Given the description of an element on the screen output the (x, y) to click on. 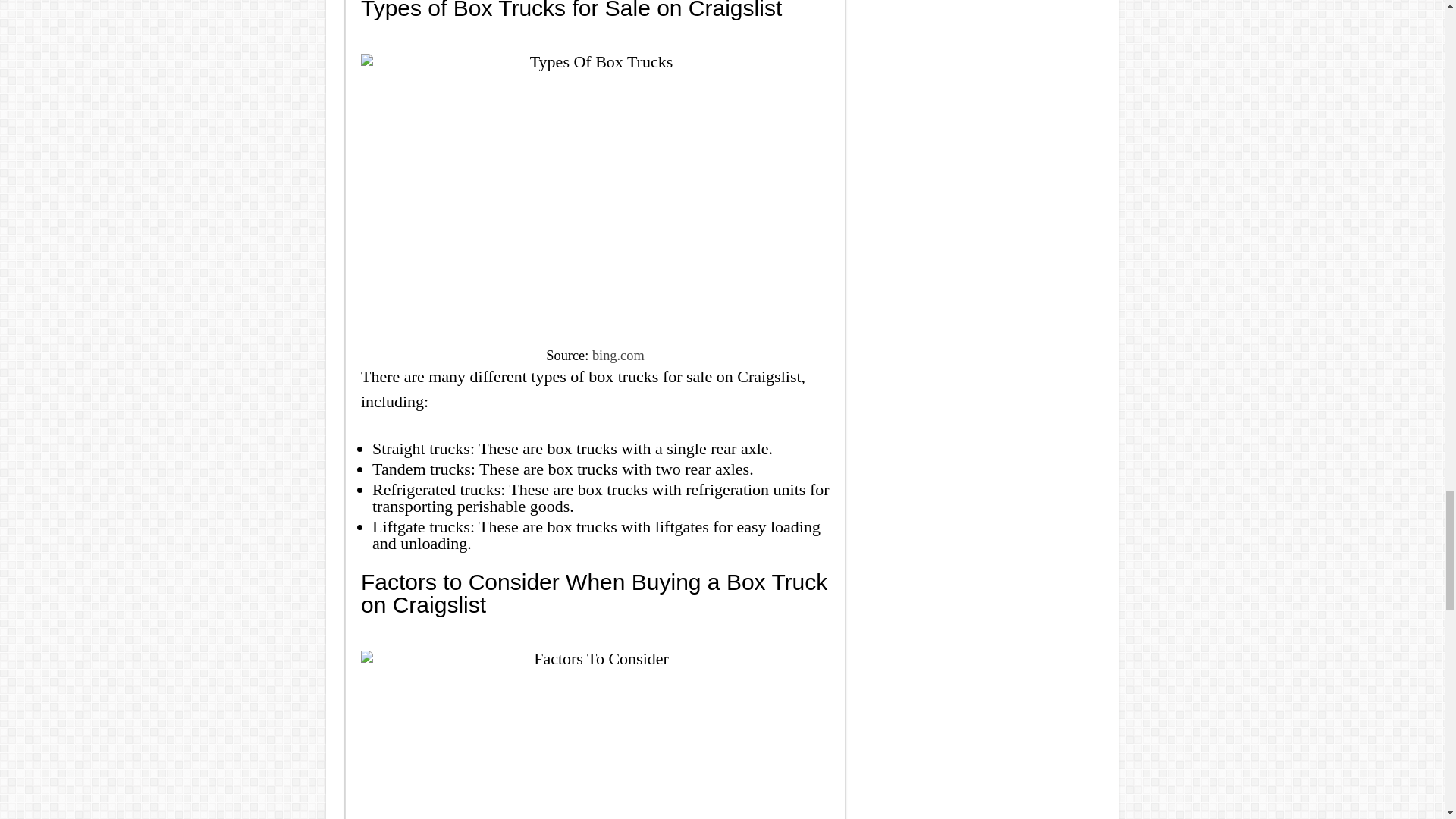
bing.com (618, 355)
